Given the description of an element on the screen output the (x, y) to click on. 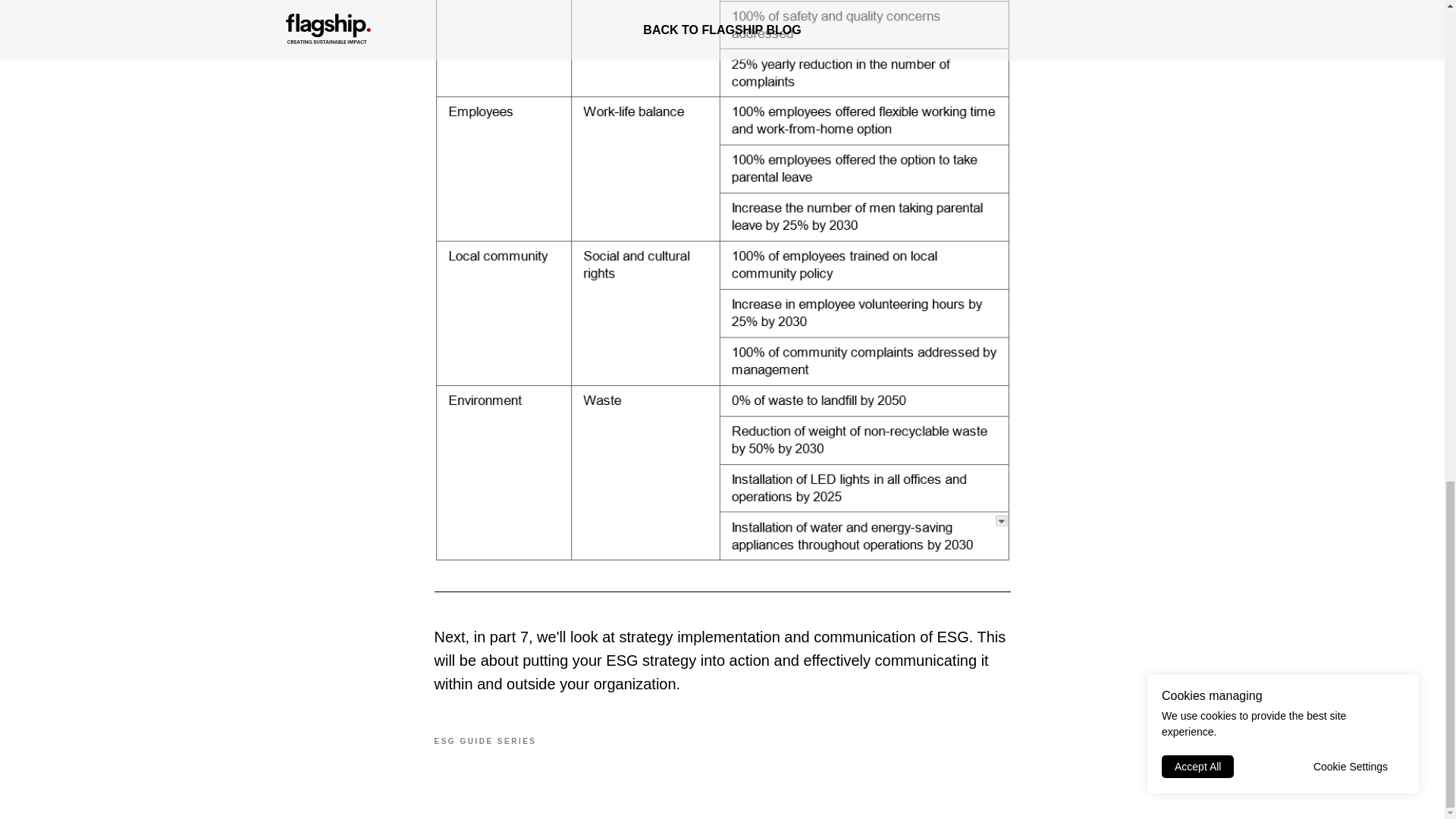
ESG GUIDE SERIES (484, 739)
